Given the description of an element on the screen output the (x, y) to click on. 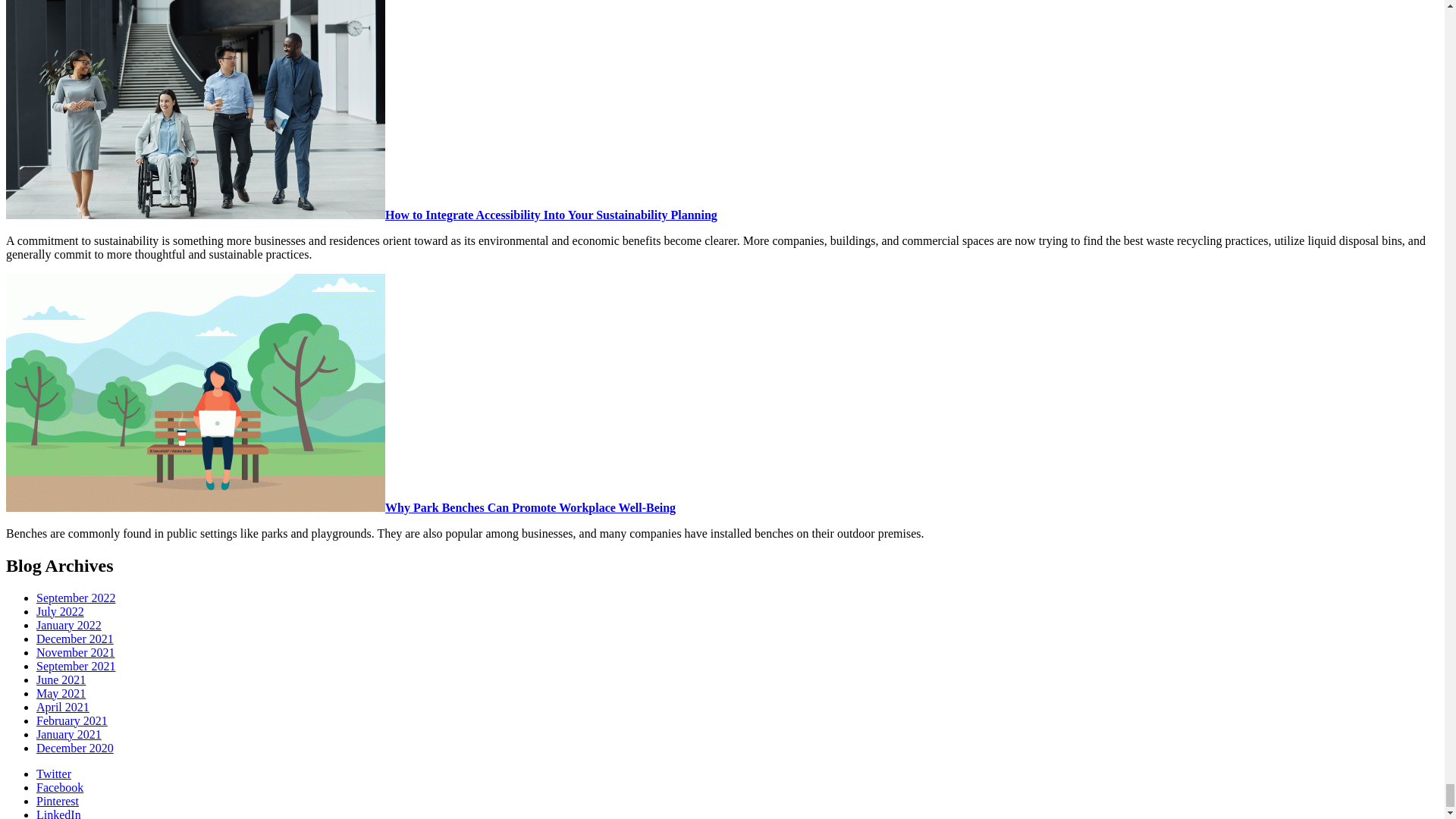
Waste Wise Products Inc. on Twitter (53, 773)
